Given the description of an element on the screen output the (x, y) to click on. 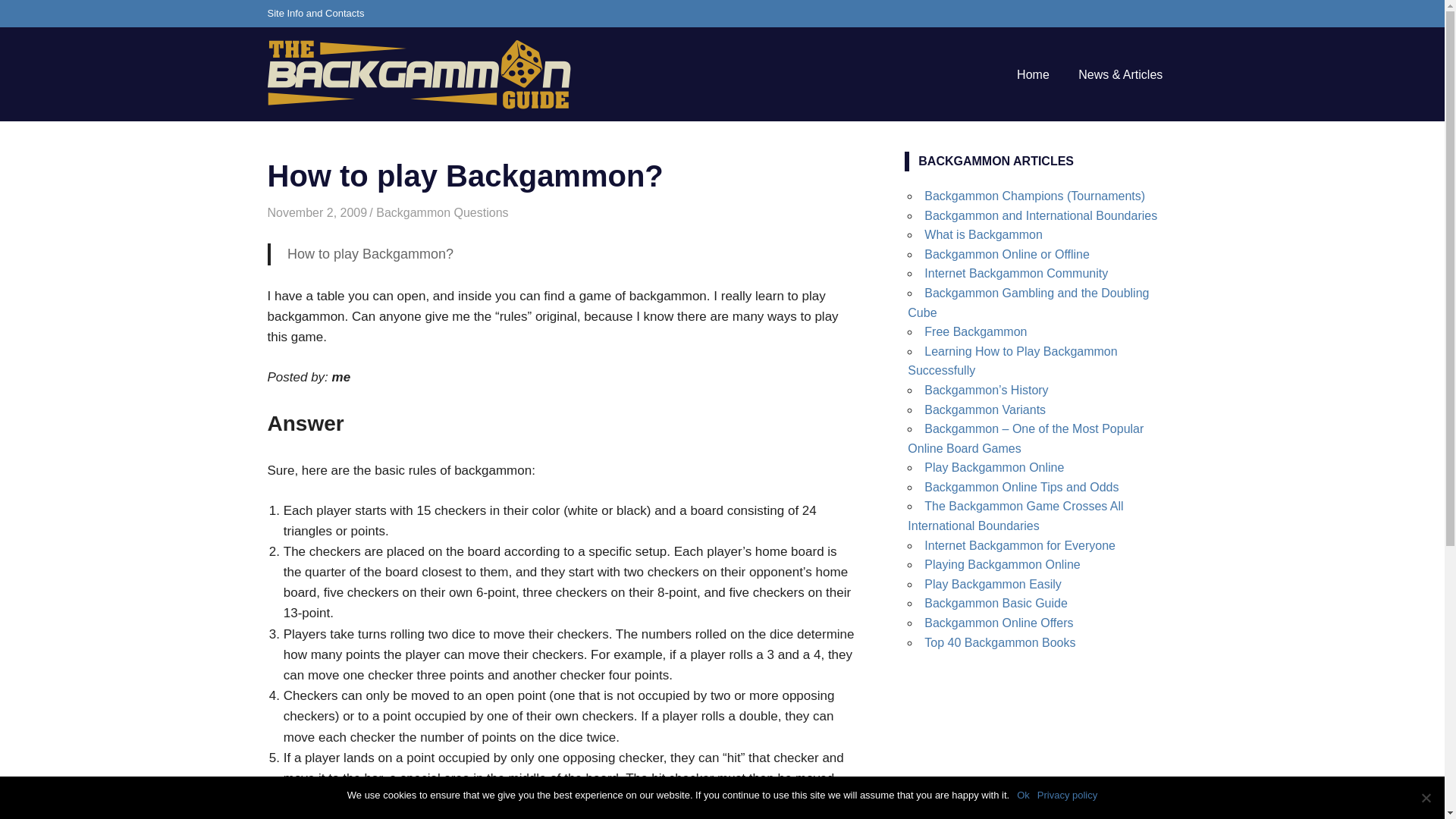
Privacy policy (1066, 795)
Backgammon Variants (984, 409)
2:16 am (316, 212)
Backgammon Online Tips and Odds (1021, 486)
Playing Backgammon Online (1002, 563)
Play Backgammon Easily (992, 584)
Internet Backgammon for Everyone (1019, 545)
Internet Backgammon Community (1016, 273)
Backgammon Basic Guide (995, 603)
Site Info and Contacts (315, 13)
What is Backgammon (983, 234)
Backgammon Gambling and the Doubling Cube (1027, 302)
The Backgammon Game Crosses All International Boundaries (1014, 515)
Free Backgammon (975, 331)
Home (1033, 75)
